Given the description of an element on the screen output the (x, y) to click on. 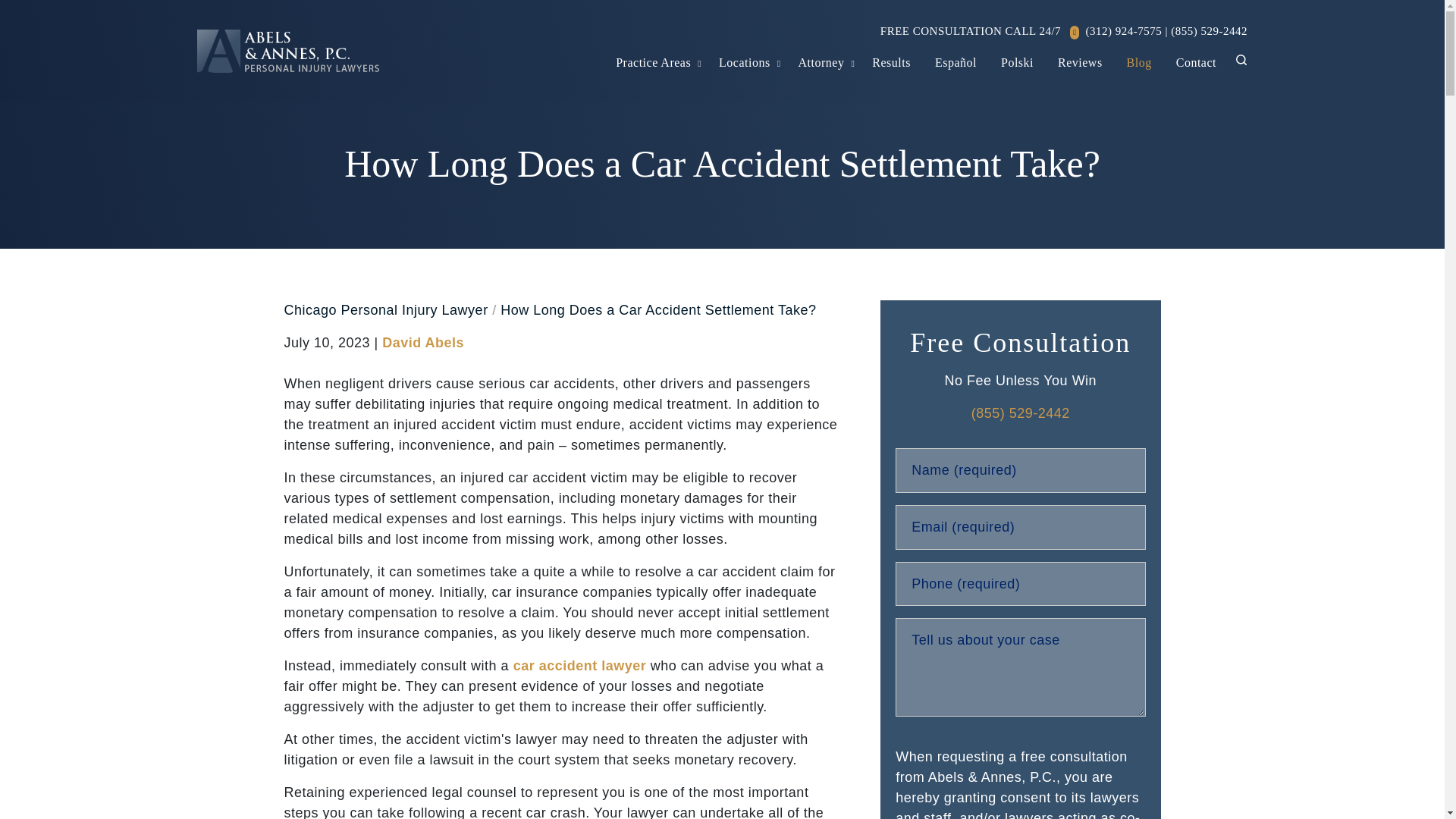
car accident lawyer (579, 665)
Reviews (1080, 61)
Blog (1139, 61)
Locations (744, 61)
Practice Areas (653, 61)
Locations (744, 61)
Practice Areas (653, 61)
Polski (1016, 61)
Chicago Personal Injury Lawyer (385, 309)
Contact (1195, 61)
Results (891, 61)
Attorney (821, 62)
David Abels (422, 342)
